Given the description of an element on the screen output the (x, y) to click on. 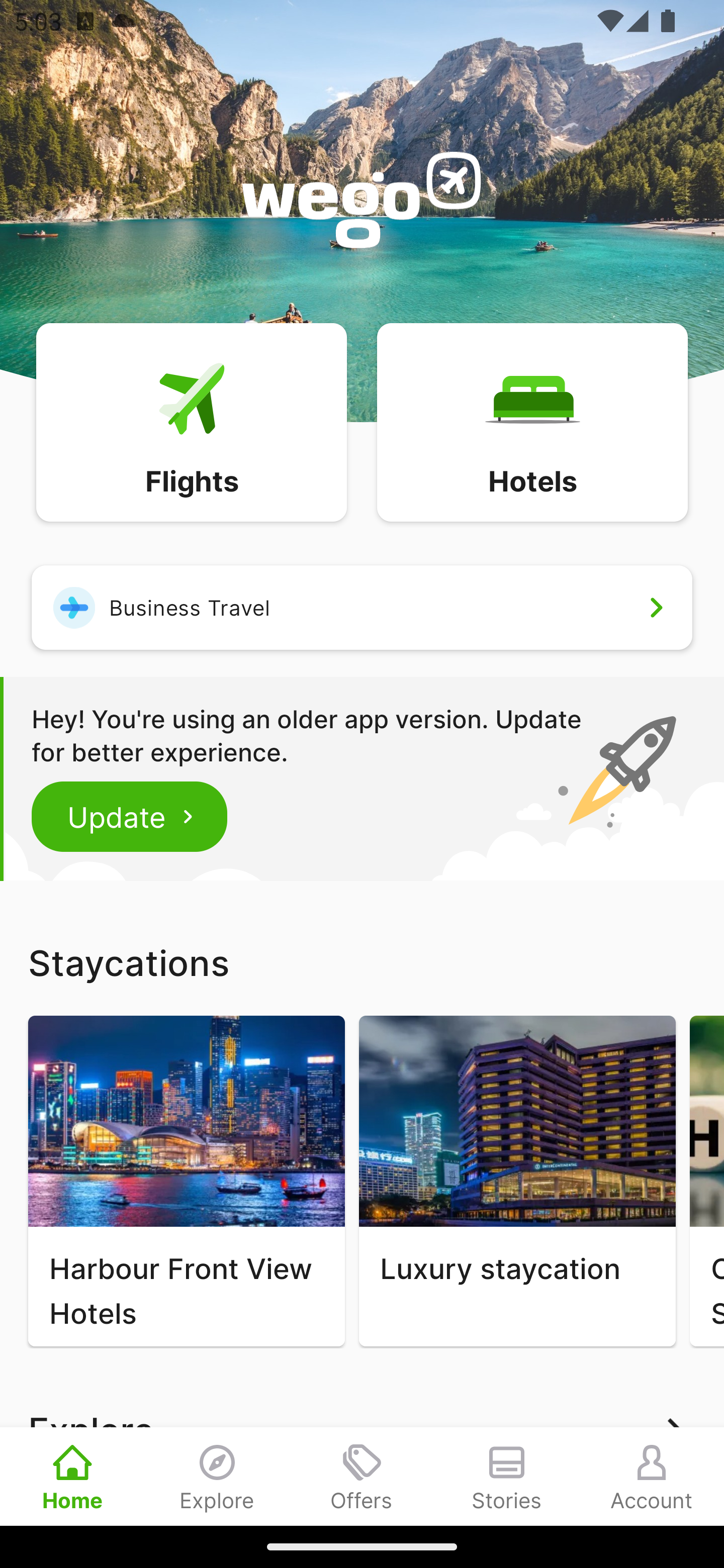
Flights (191, 420)
Hotels (532, 420)
Business Travel (361, 607)
Update (129, 815)
Staycations (362, 962)
Harbour Front View Hotels (186, 1181)
Luxury staycation (517, 1181)
Explore (216, 1475)
Offers (361, 1475)
Stories (506, 1475)
Account (651, 1475)
